Given the description of an element on the screen output the (x, y) to click on. 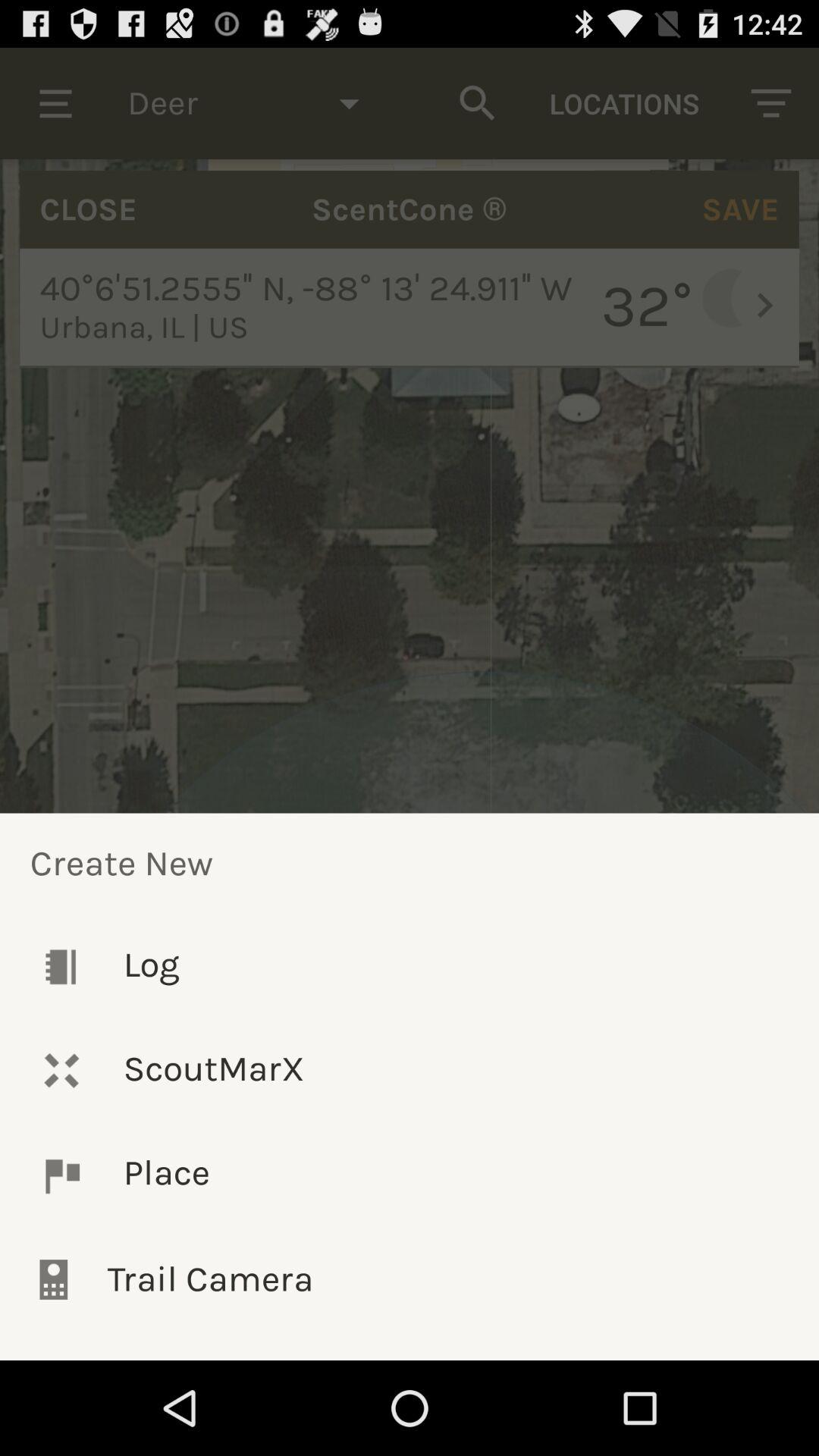
scroll to trail camera icon (409, 1279)
